Given the description of an element on the screen output the (x, y) to click on. 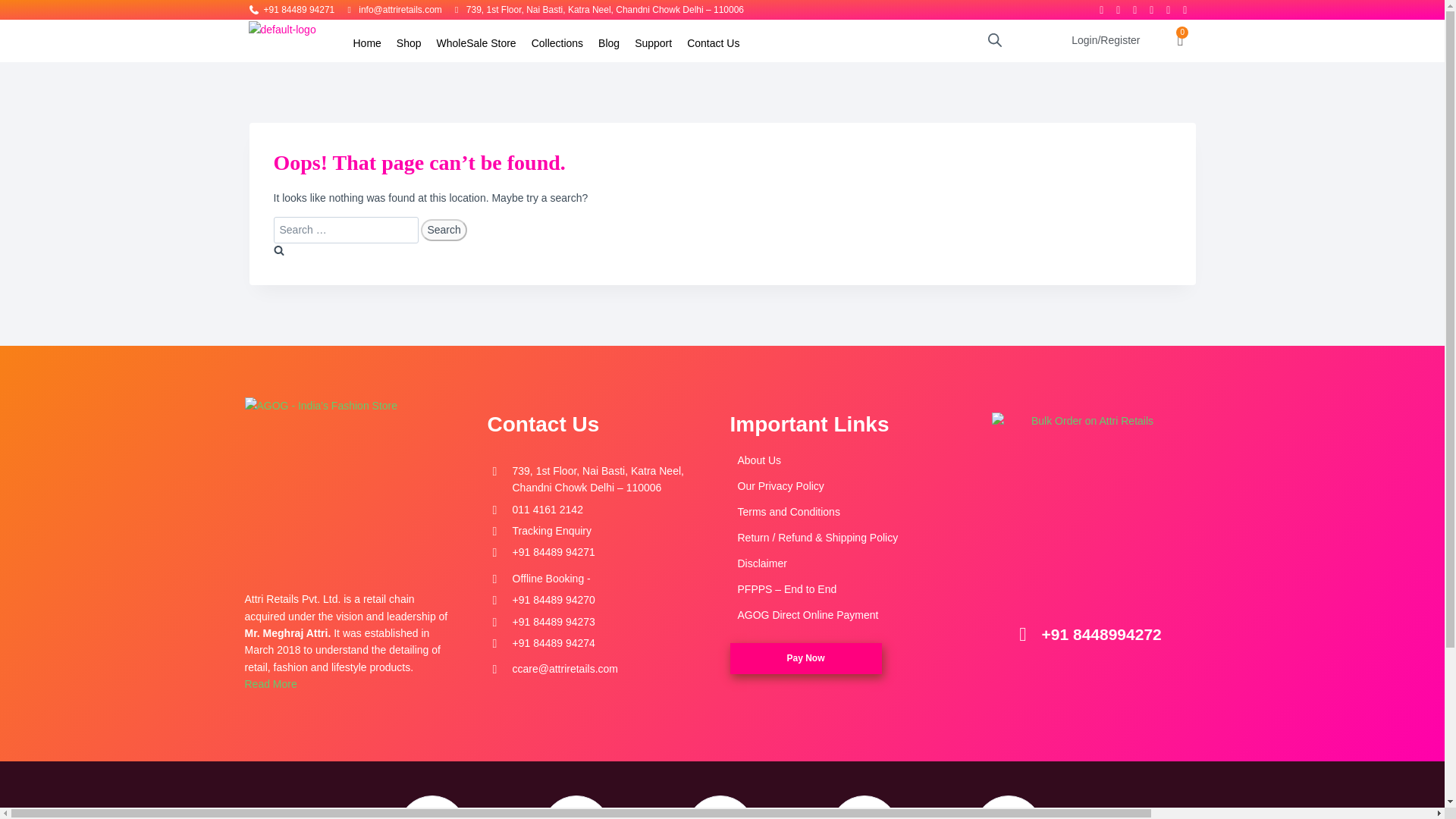
Shop (408, 42)
Search (442, 229)
Collections (557, 42)
WholeSale Store (476, 42)
Home (367, 42)
Search (442, 229)
